Given the description of an element on the screen output the (x, y) to click on. 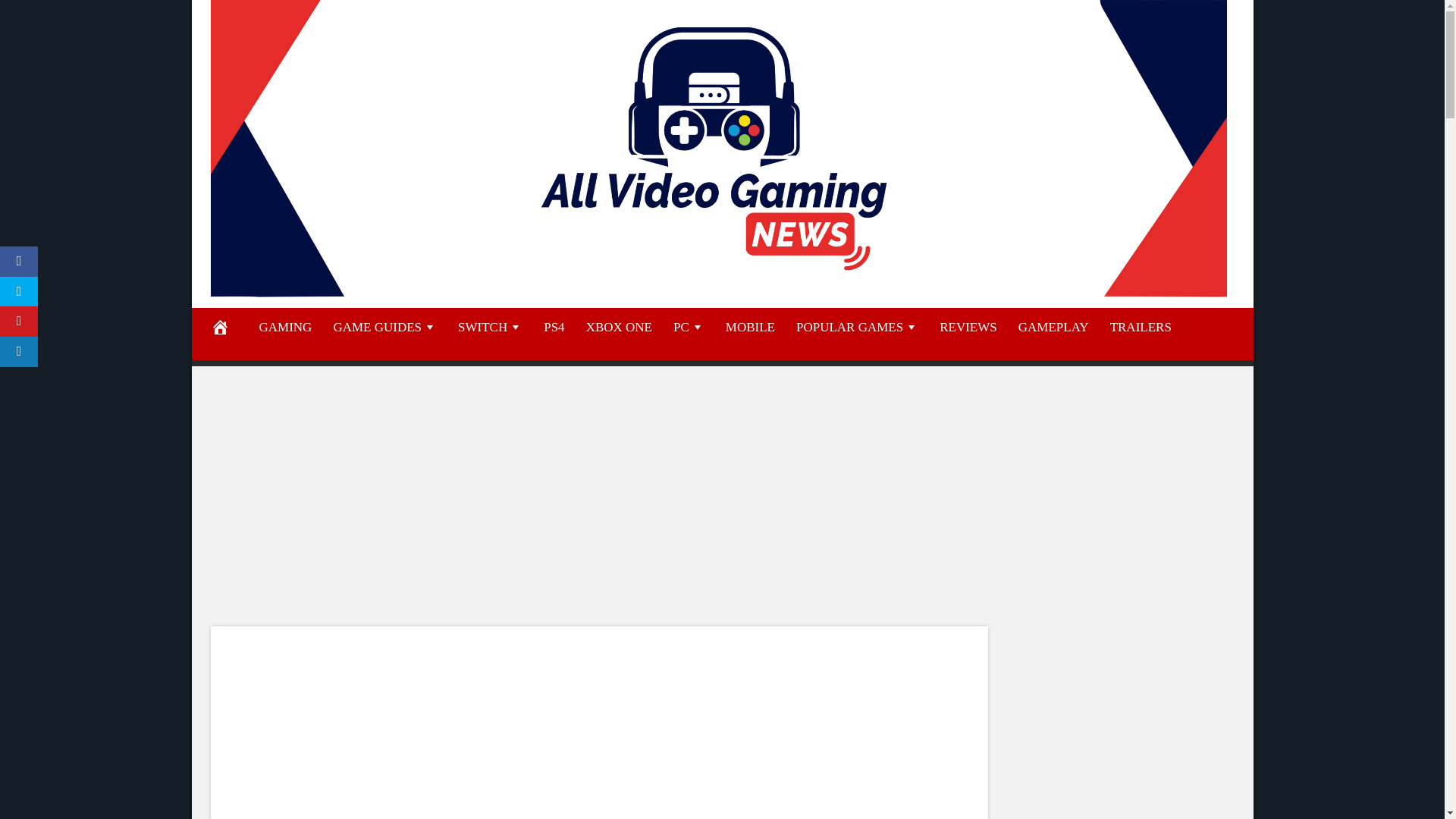
Advertisement (1120, 722)
Advertisement (598, 732)
